Given the description of an element on the screen output the (x, y) to click on. 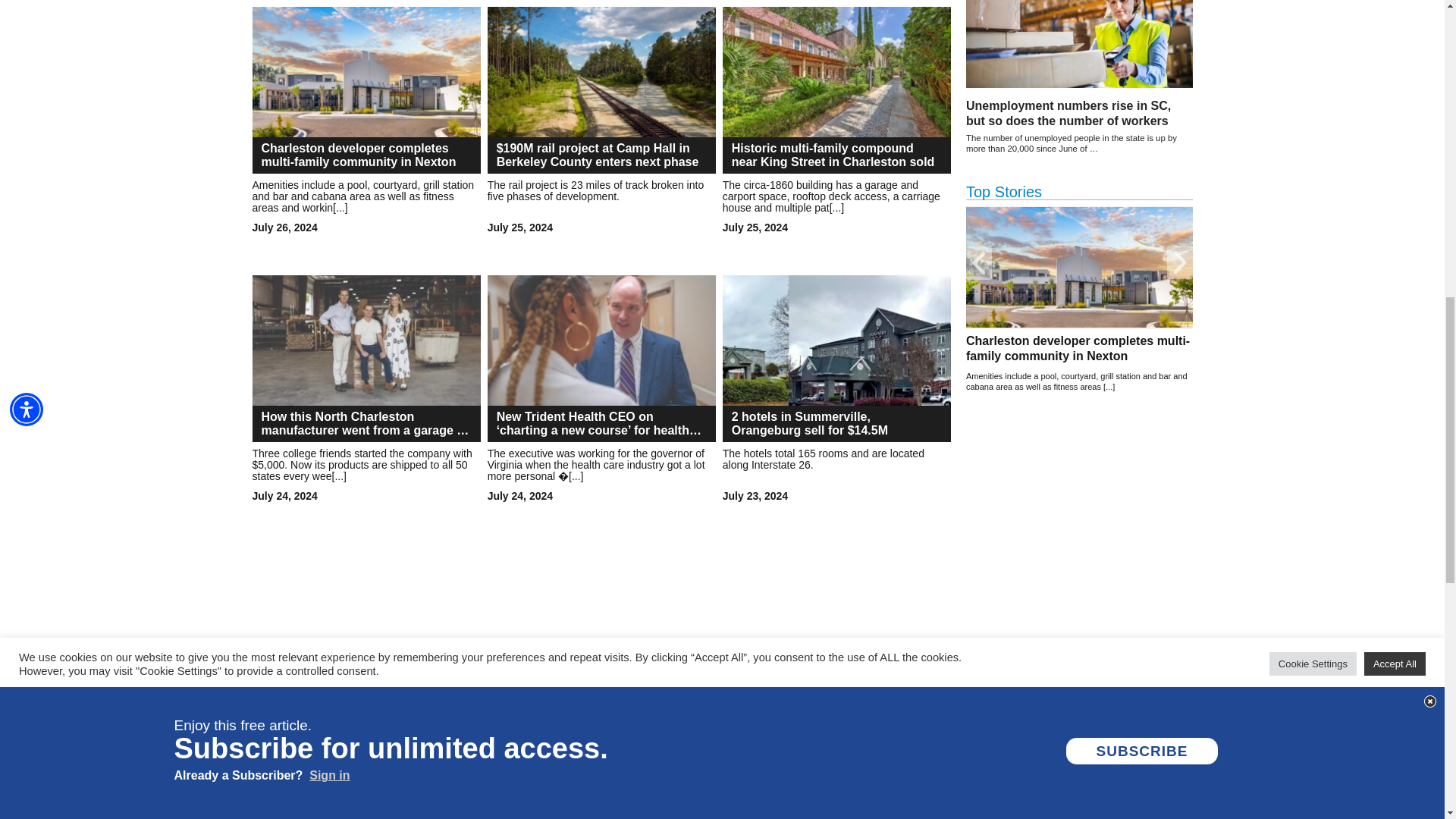
3rd party ad content (604, 691)
3rd party ad content (1079, 528)
